Given the description of an element on the screen output the (x, y) to click on. 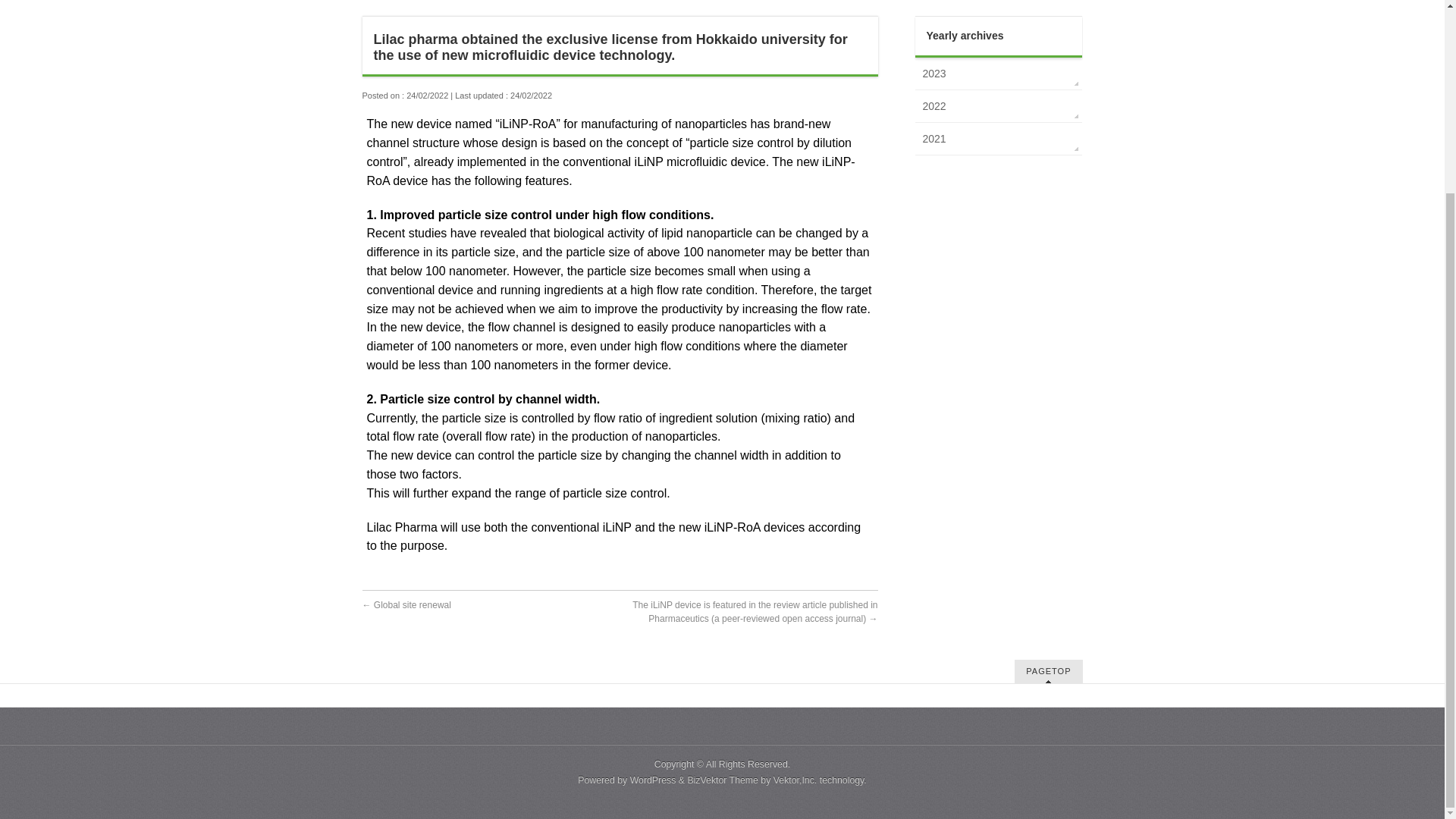
Vektor,Inc. (794, 779)
Vektor,Inc. (794, 779)
2023  (997, 73)
WordPress (653, 779)
2022  (997, 106)
PAGETOP (1047, 671)
Free WordPress Theme BizVektor for business (722, 779)
2021  (997, 138)
BizVektor Theme (722, 779)
